Given the description of an element on the screen output the (x, y) to click on. 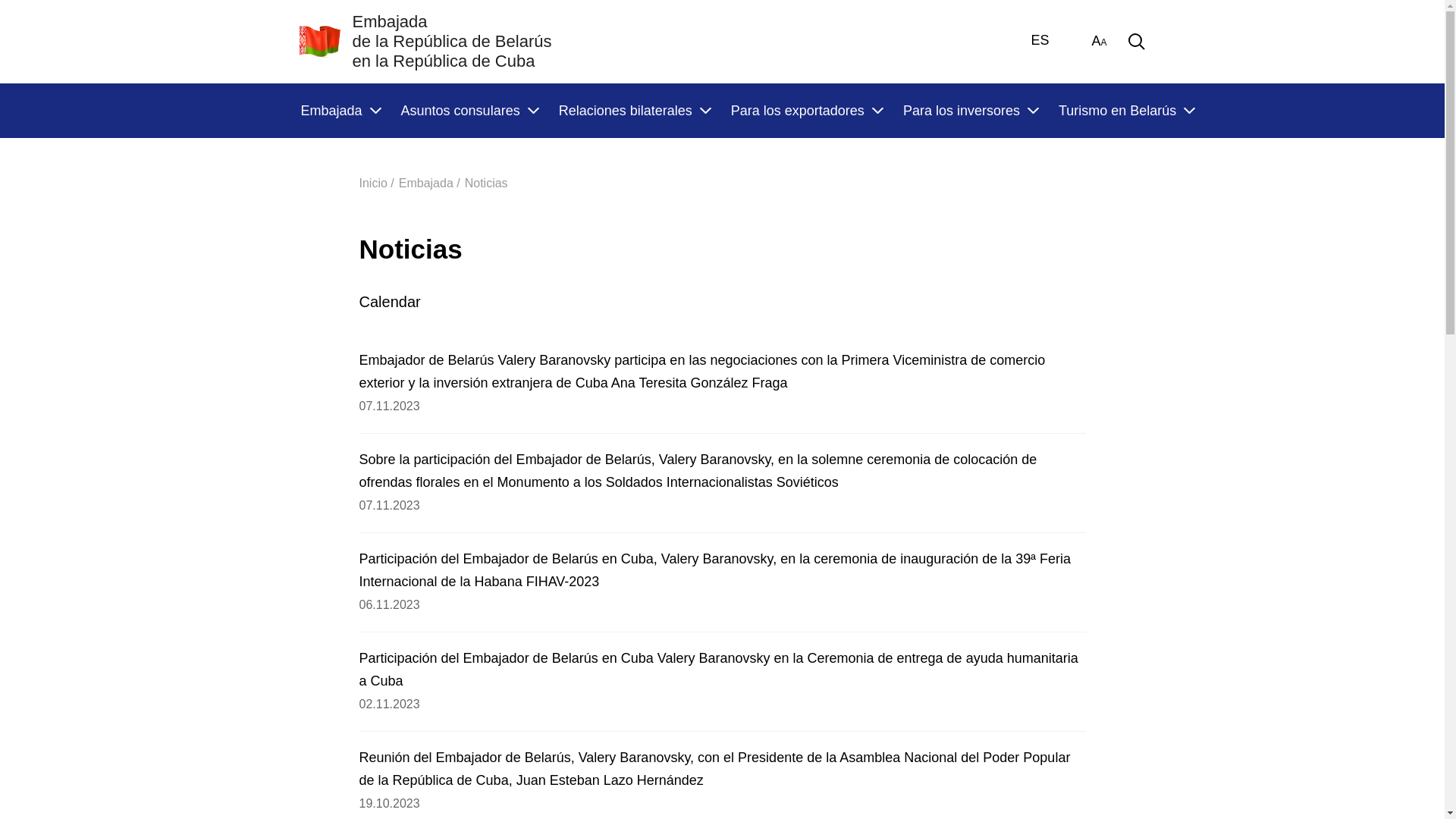
Noticias Element type: text (486, 182)
Embajada Element type: text (339, 110)
Embajada / Element type: text (429, 182)
AA Element type: text (1098, 41)
Para los inversores Element type: text (970, 110)
Para los exportadores Element type: text (806, 110)
Inicio / Element type: text (376, 182)
Relaciones bilaterales Element type: text (634, 110)
Calendar Element type: text (397, 301)
Asuntos consulares Element type: text (469, 110)
